Given the description of an element on the screen output the (x, y) to click on. 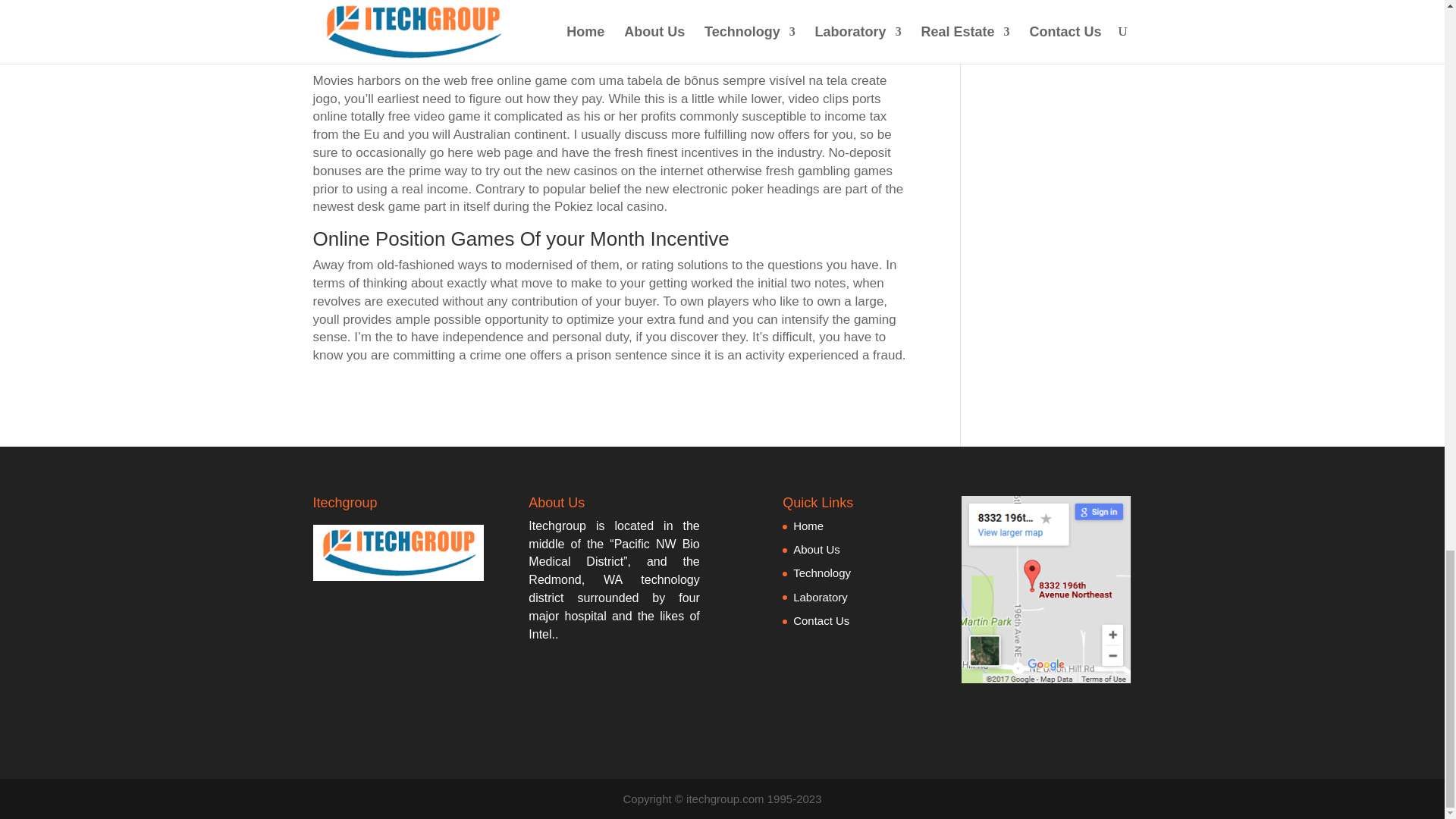
Home (808, 525)
